Given the description of an element on the screen output the (x, y) to click on. 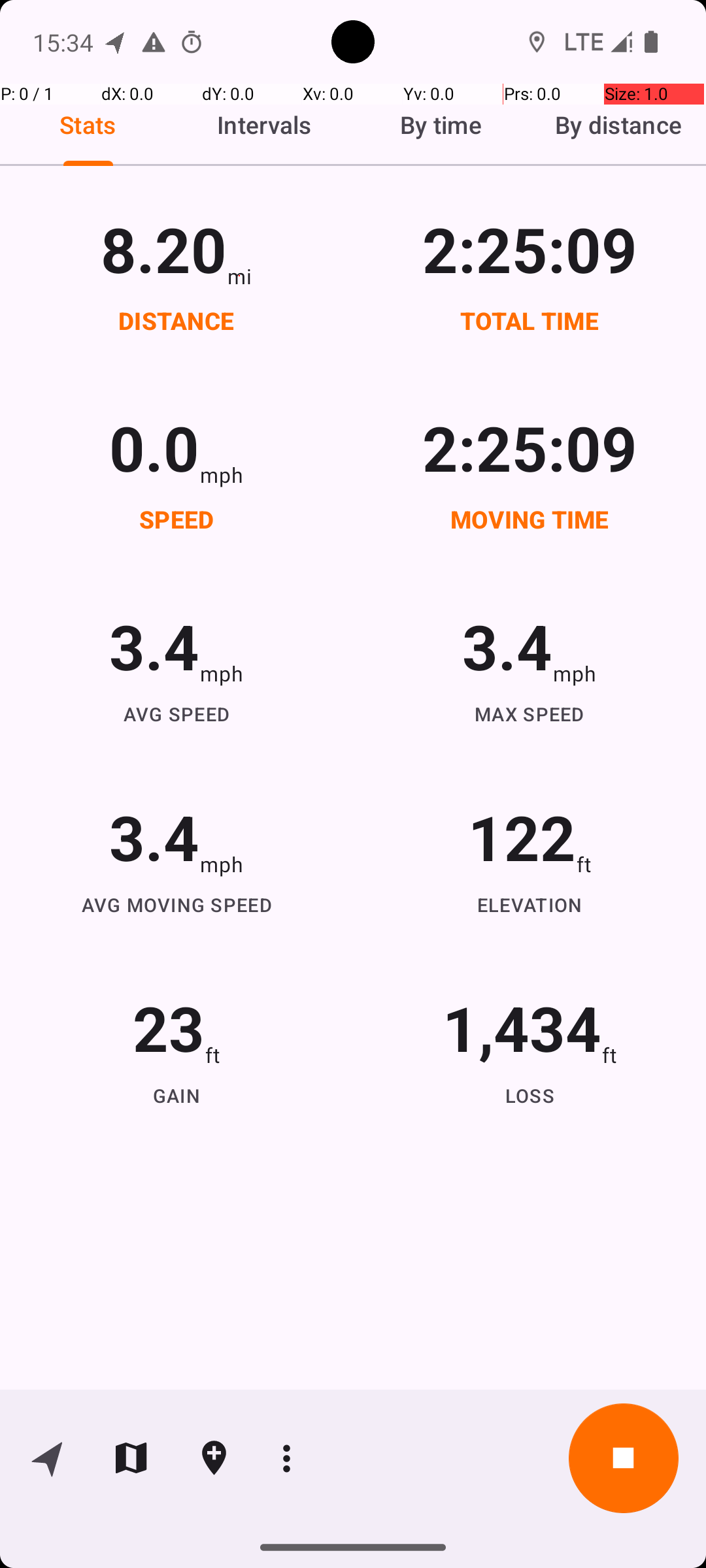
Insert marker Element type: android.widget.Button (213, 1458)
8.20 Element type: android.widget.TextView (163, 248)
2:25:09 Element type: android.widget.TextView (529, 248)
0.0 Element type: android.widget.TextView (154, 446)
3.4 Element type: android.widget.TextView (154, 645)
122 Element type: android.widget.TextView (521, 836)
1,434 Element type: android.widget.TextView (521, 1026)
OpenTracks notification: Distance: 8.20 mi Element type: android.widget.ImageView (115, 41)
